Given the description of an element on the screen output the (x, y) to click on. 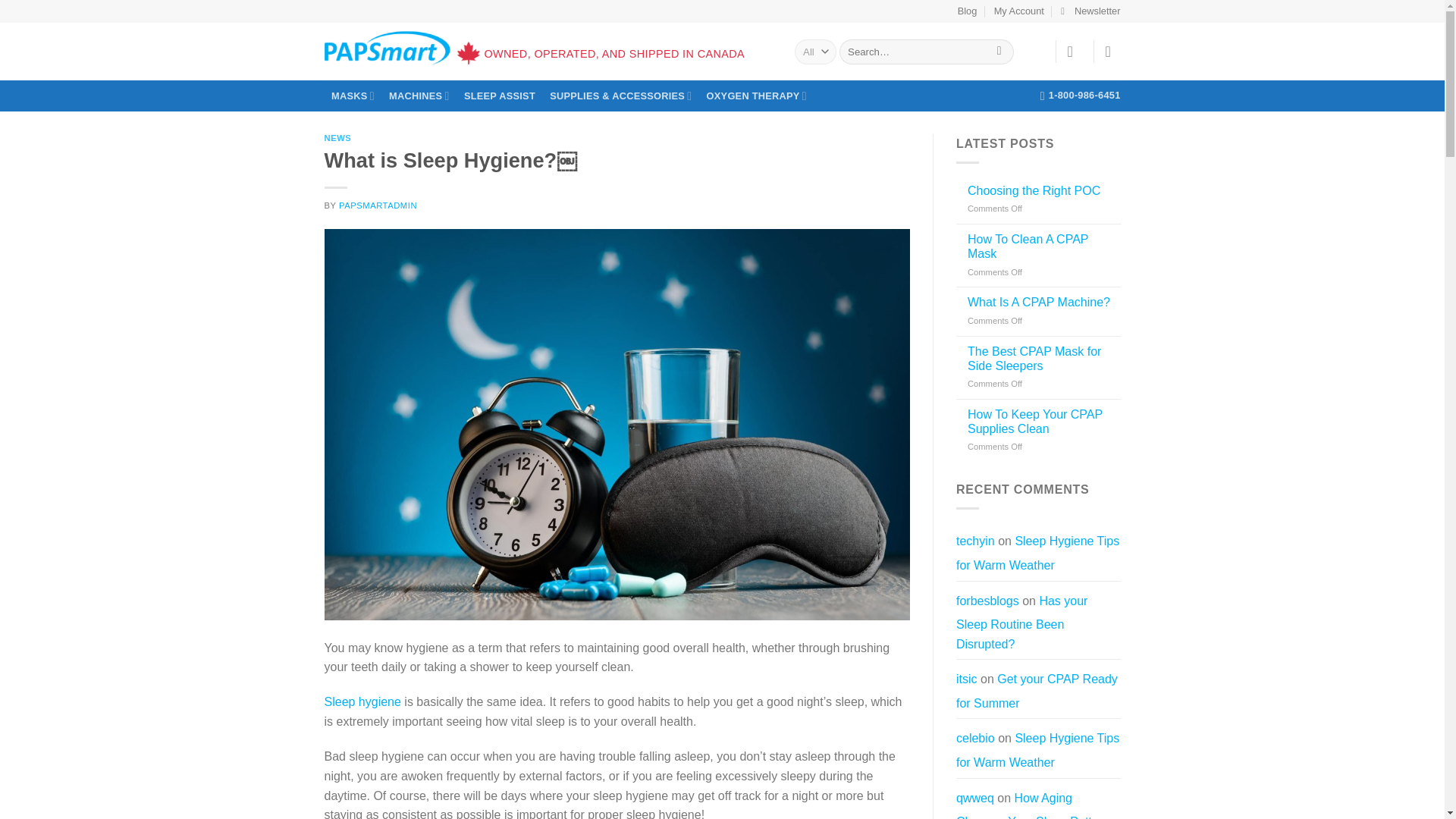
NEWS (338, 137)
Sleep hygiene (362, 701)
MACHINES (419, 96)
Newsletter (1090, 11)
1-800-986-6451 (1081, 95)
OXYGEN THERAPY (755, 96)
PAPSMARTADMIN (377, 204)
Search (999, 52)
MASKS (352, 96)
PAPSmart Canada - Owned, operated, and shipped in Canada (386, 47)
